Given the description of an element on the screen output the (x, y) to click on. 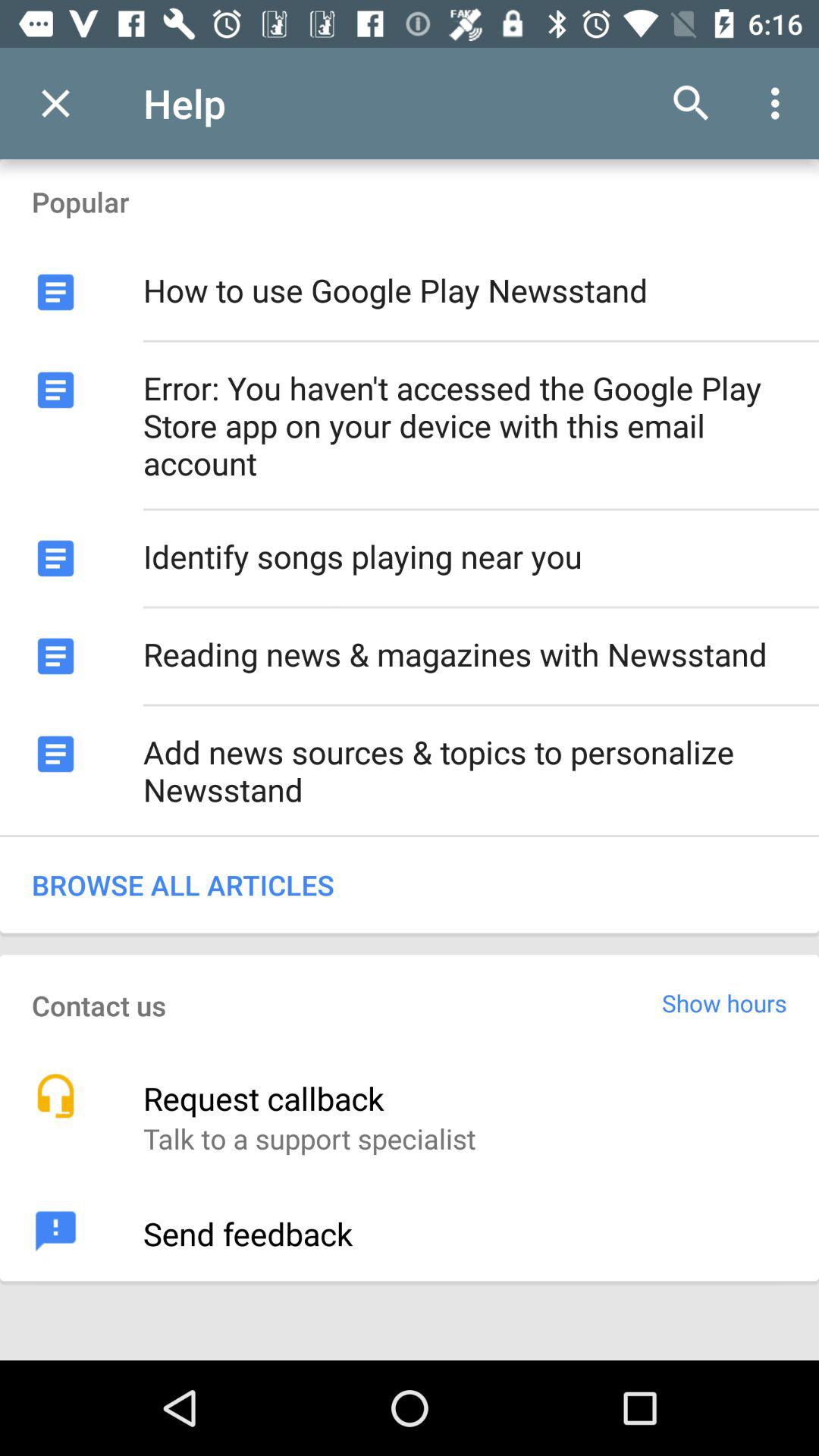
open browse all articles icon (409, 884)
